Given the description of an element on the screen output the (x, y) to click on. 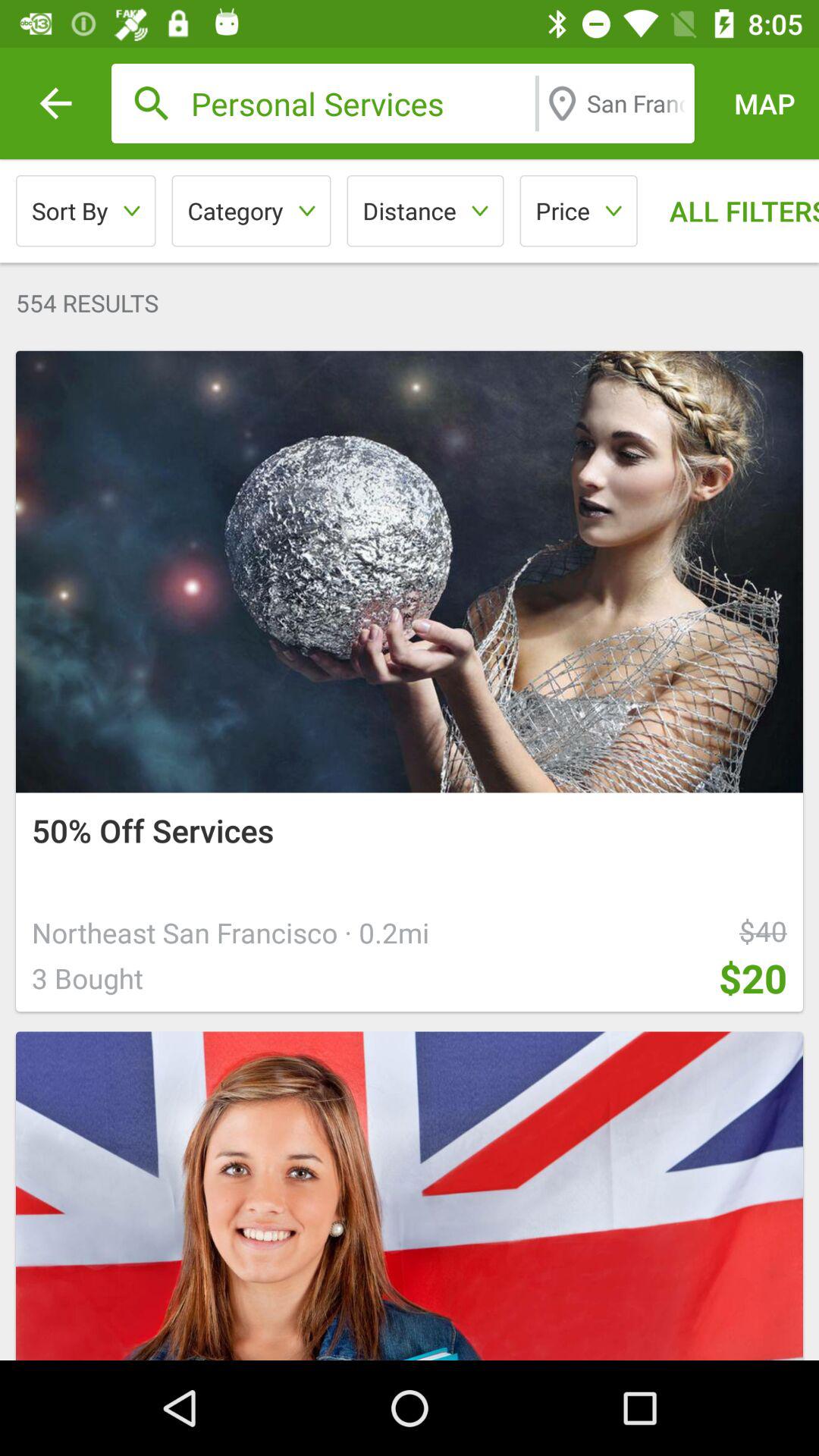
turn on the distance (424, 210)
